Given the description of an element on the screen output the (x, y) to click on. 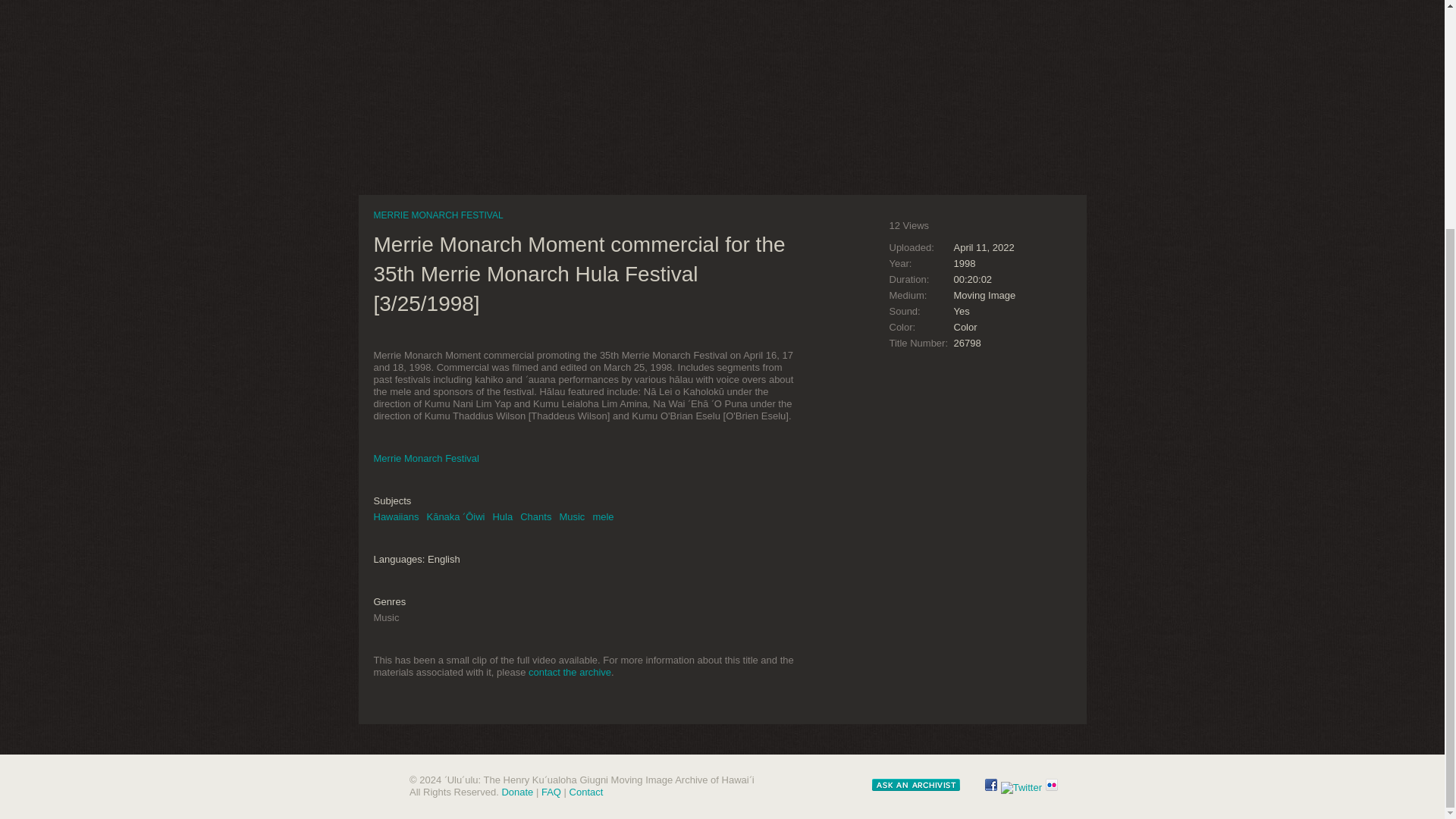
Donate (516, 791)
Hawaiians (395, 516)
mele (602, 516)
Hula (502, 516)
Chants (535, 516)
Contact (586, 791)
MERRIE MONARCH FESTIVAL (437, 214)
contact the archive (569, 672)
Music (572, 516)
FAQ (550, 791)
